Given the description of an element on the screen output the (x, y) to click on. 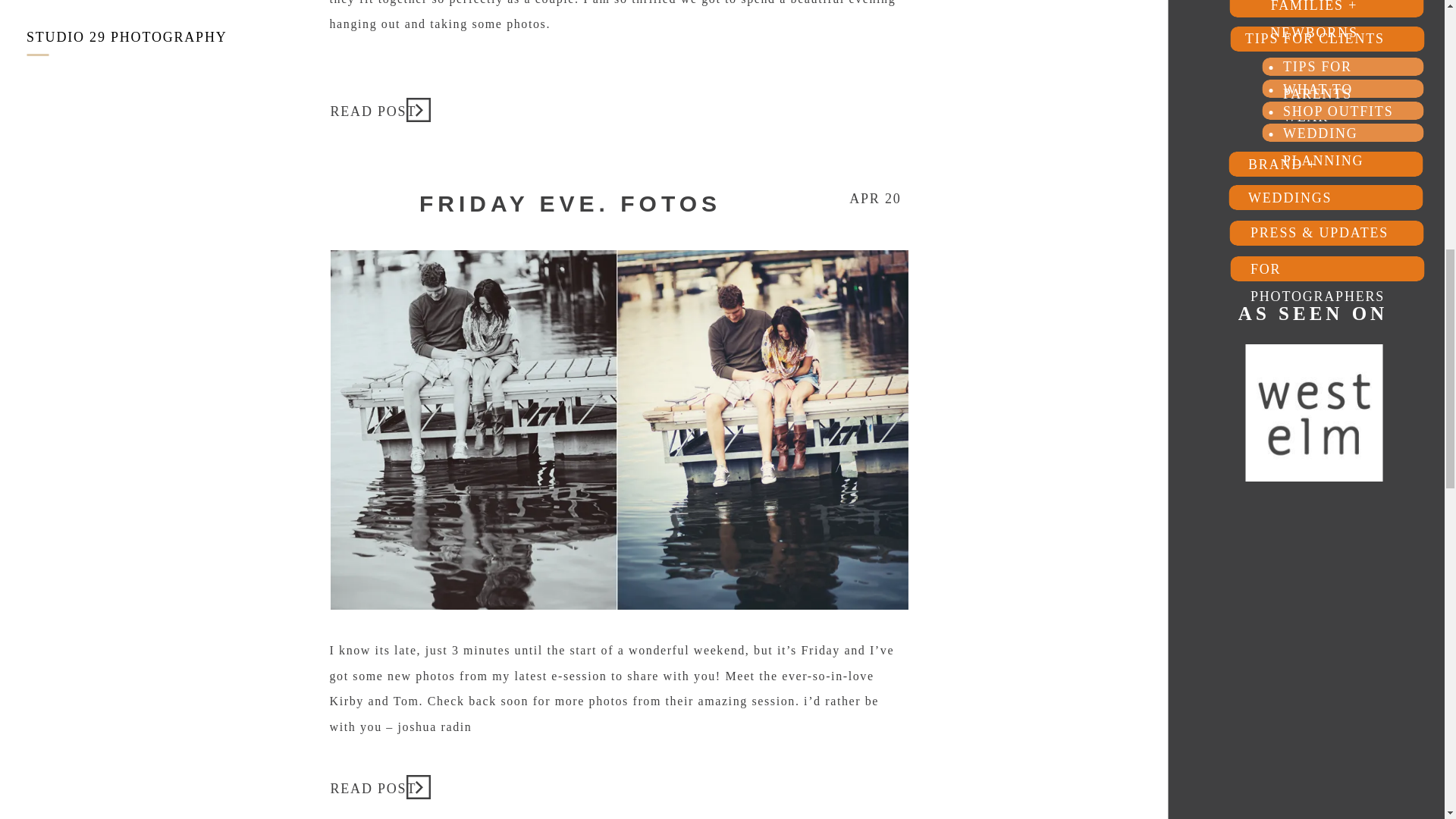
Friday Eve. Fotos (416, 787)
Friday Eve. Fotos (374, 785)
